Given the description of an element on the screen output the (x, y) to click on. 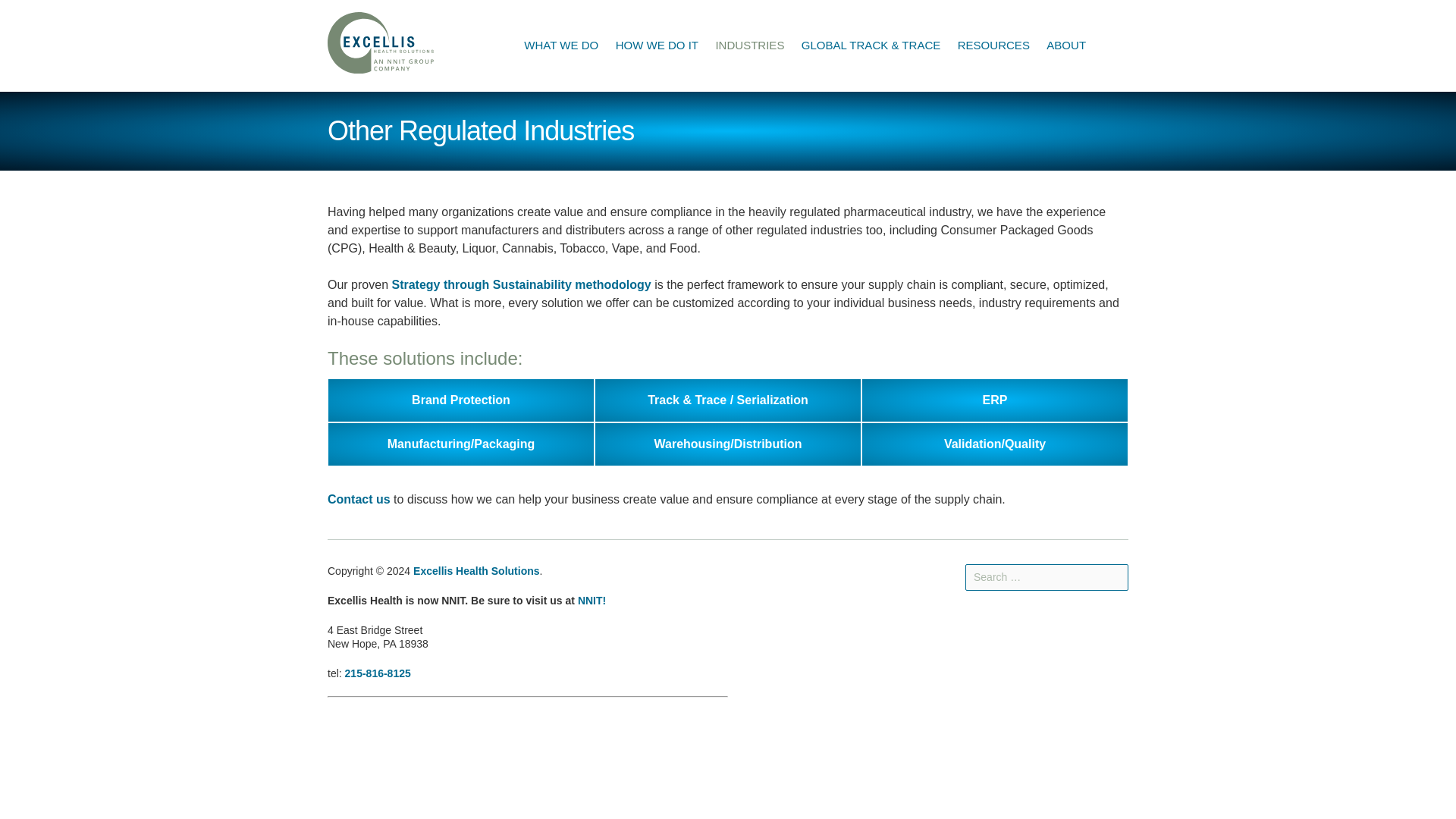
Search for: (1045, 577)
ABOUT (1066, 45)
Excellis Health Solutions (380, 45)
RESOURCES (994, 45)
HOW WE DO IT (656, 45)
INDUSTRIES (749, 45)
WHAT WE DO (561, 45)
